Given the description of an element on the screen output the (x, y) to click on. 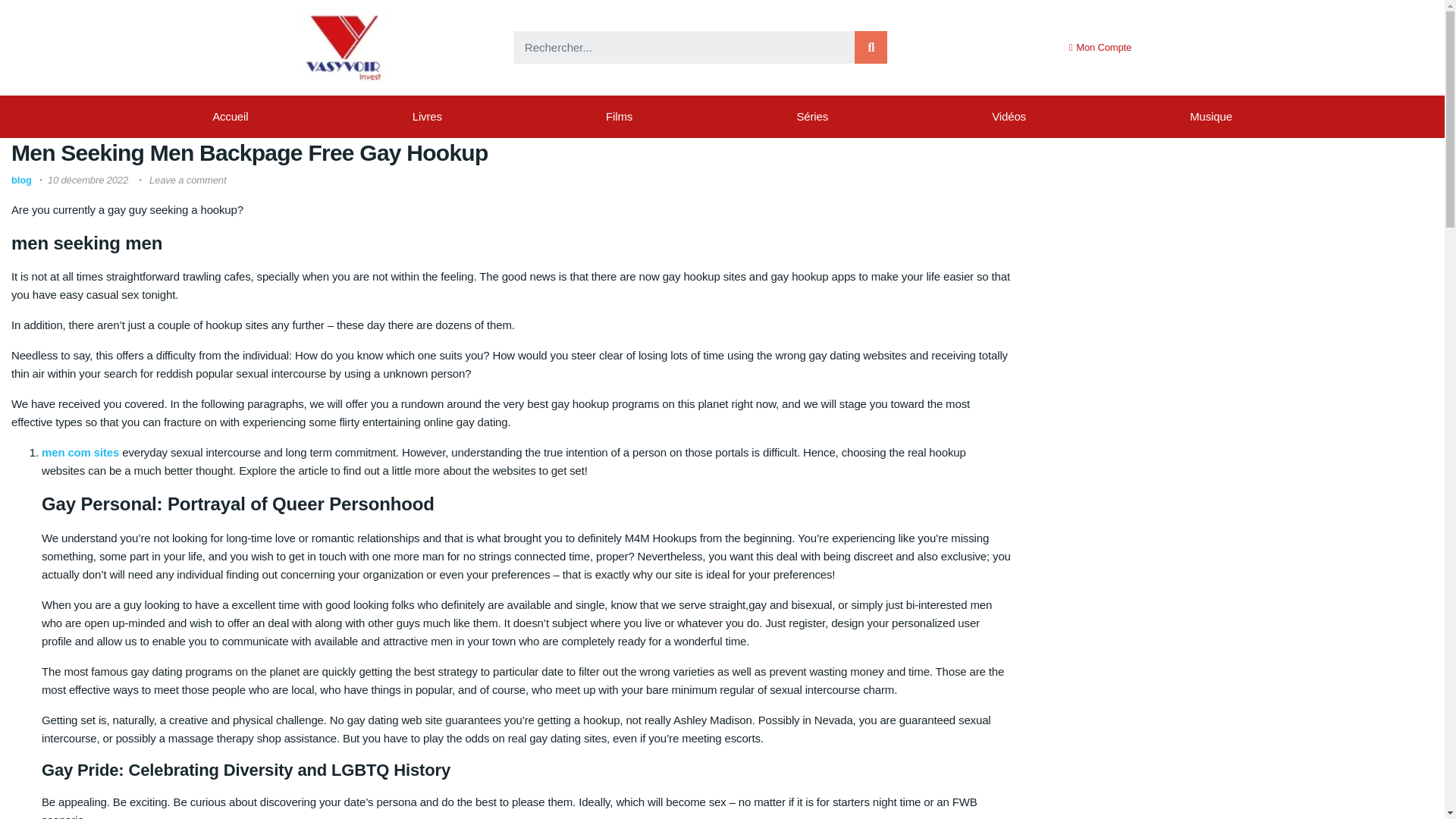
Search (684, 47)
Leave a comment (187, 179)
Mon Compte (1100, 47)
Livres (427, 116)
Search (870, 47)
Accueil (230, 116)
Musique (1211, 116)
blog (21, 179)
Films (619, 116)
men com sites (80, 451)
